Given the description of an element on the screen output the (x, y) to click on. 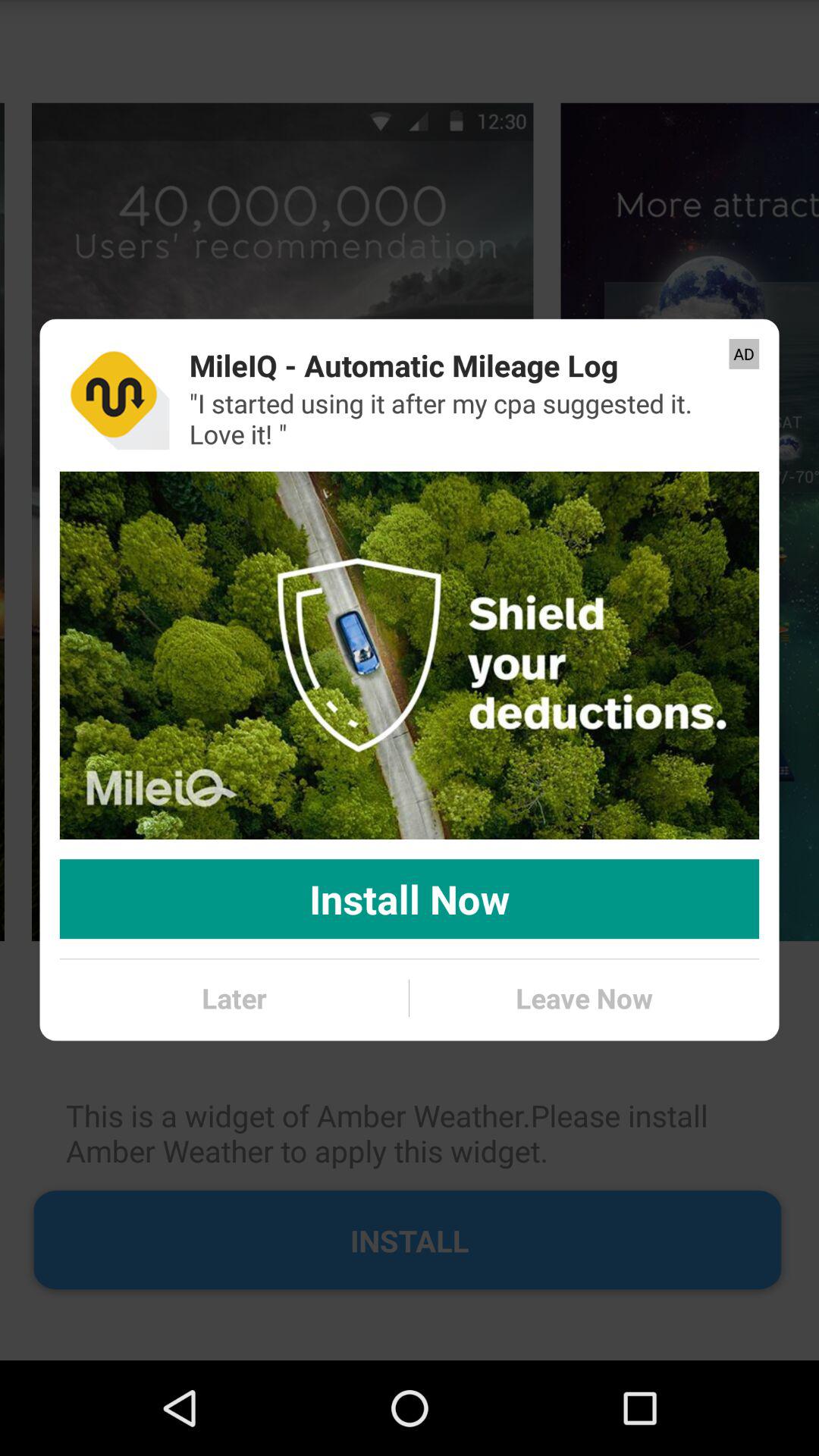
select the icon next to ad item (403, 365)
